Given the description of an element on the screen output the (x, y) to click on. 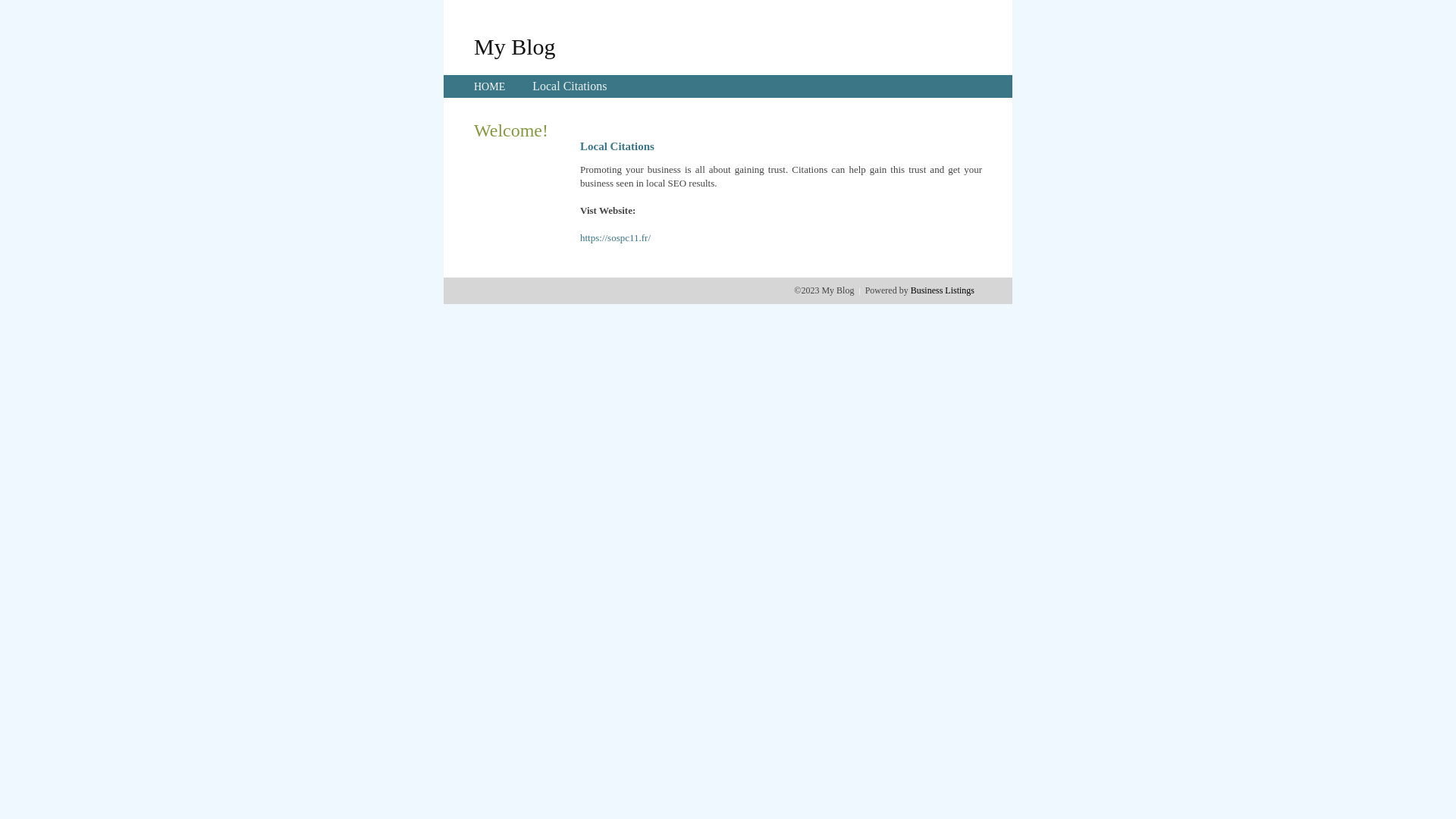
HOME Element type: text (489, 86)
Business Listings Element type: text (942, 290)
Local Citations Element type: text (569, 85)
My Blog Element type: text (514, 46)
https://sospc11.fr/ Element type: text (615, 237)
